Given the description of an element on the screen output the (x, y) to click on. 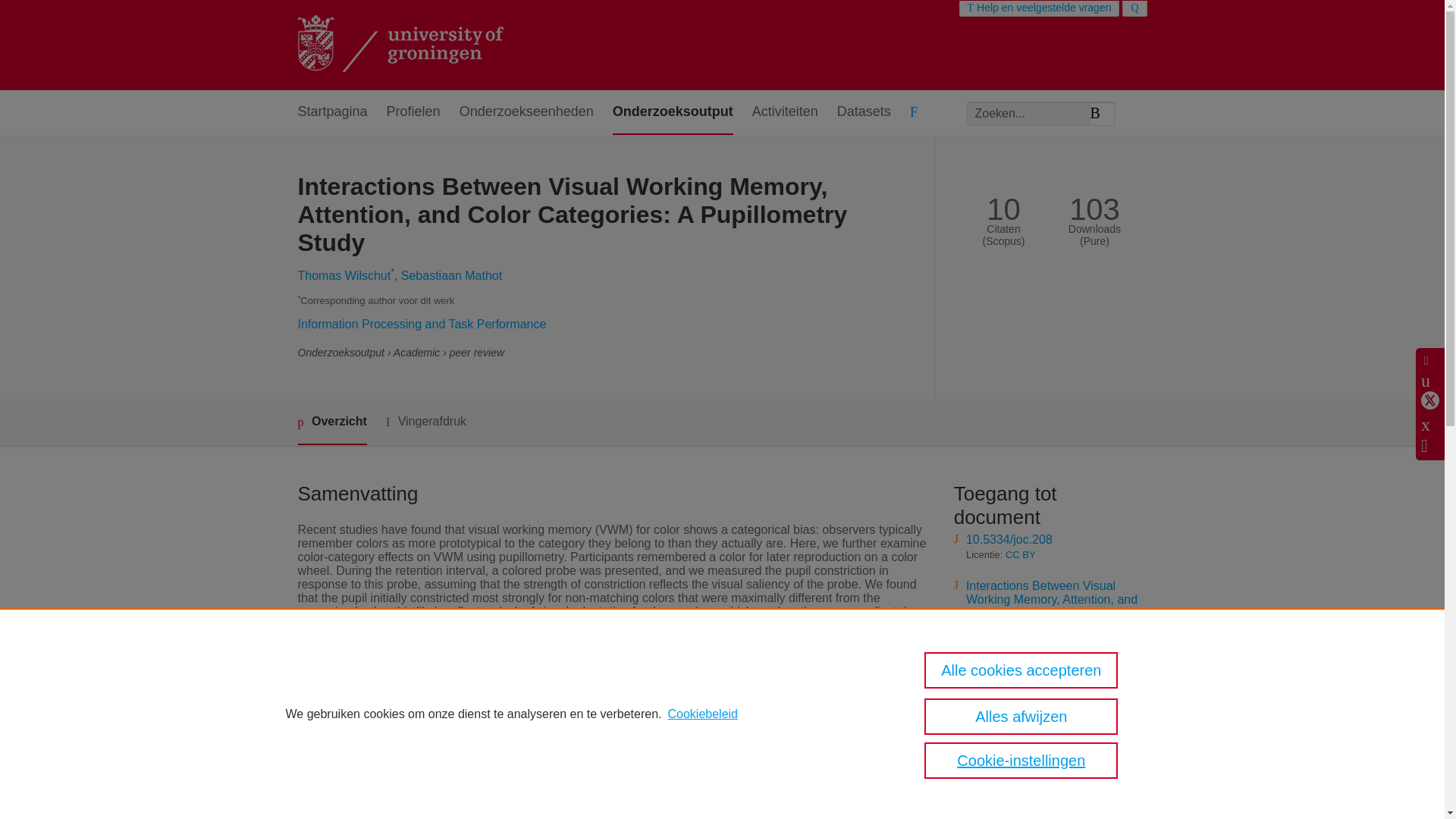
CC BY (1020, 655)
Onderzoeksoutput (672, 112)
Journal of Cognition (563, 811)
Thomas Wilschut (343, 275)
Overzicht (331, 422)
Profielen (414, 112)
Help en veelgestelde vragen (1039, 7)
Sebastiaan Mathot (451, 275)
